Given the description of an element on the screen output the (x, y) to click on. 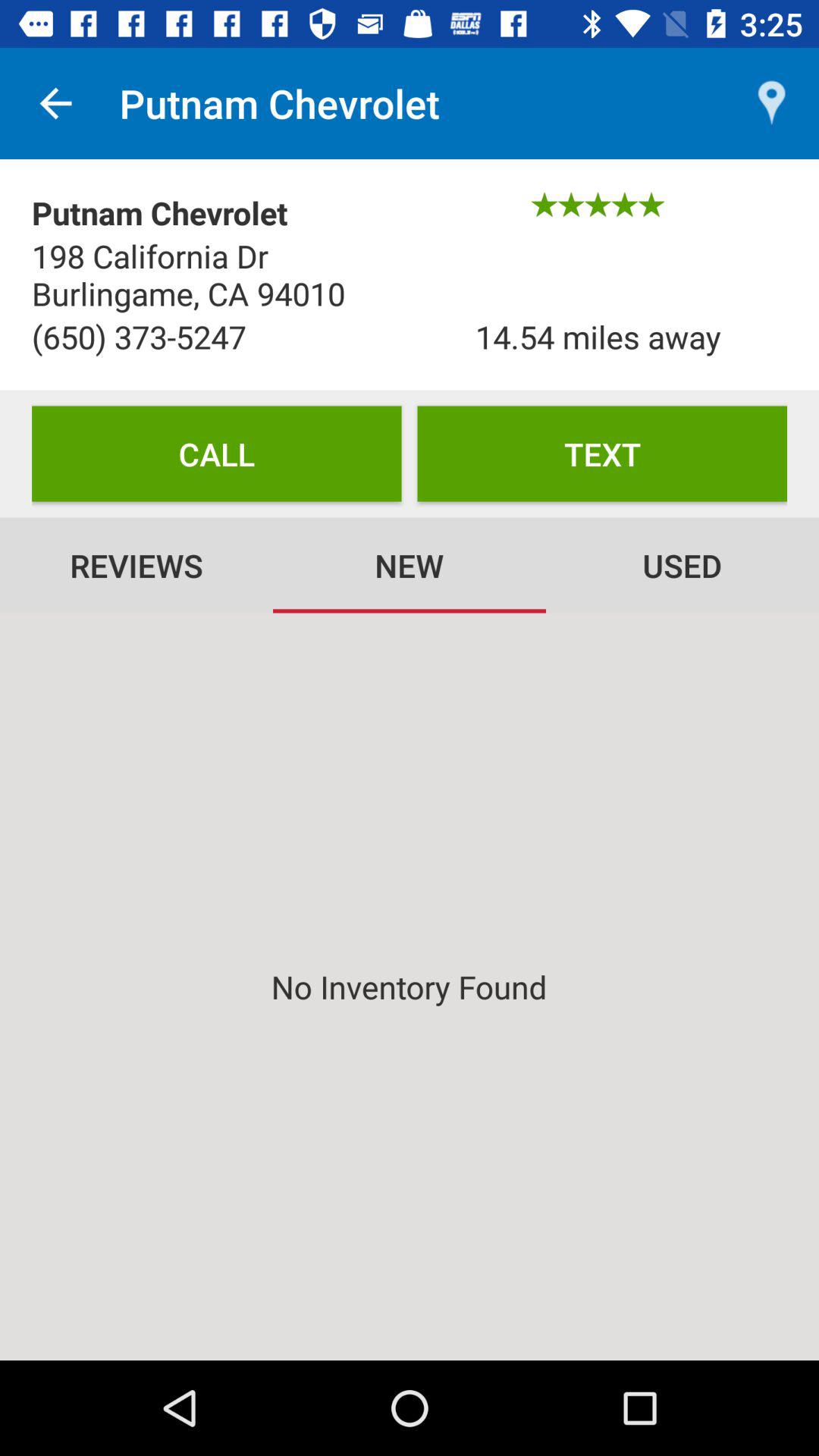
click item above 14 54 miles icon (771, 103)
